Given the description of an element on the screen output the (x, y) to click on. 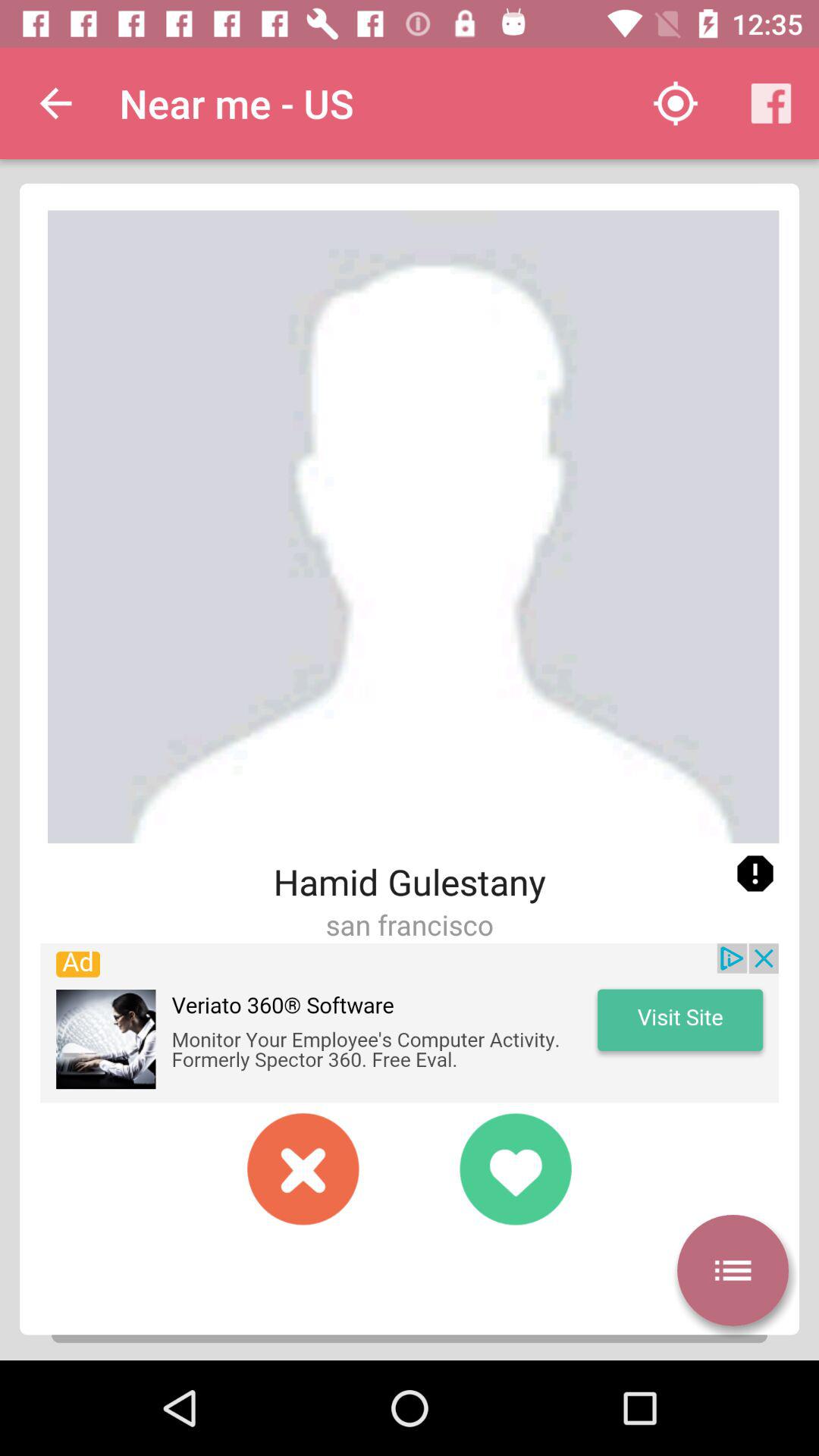
sponsored content (409, 1022)
